Given the description of an element on the screen output the (x, y) to click on. 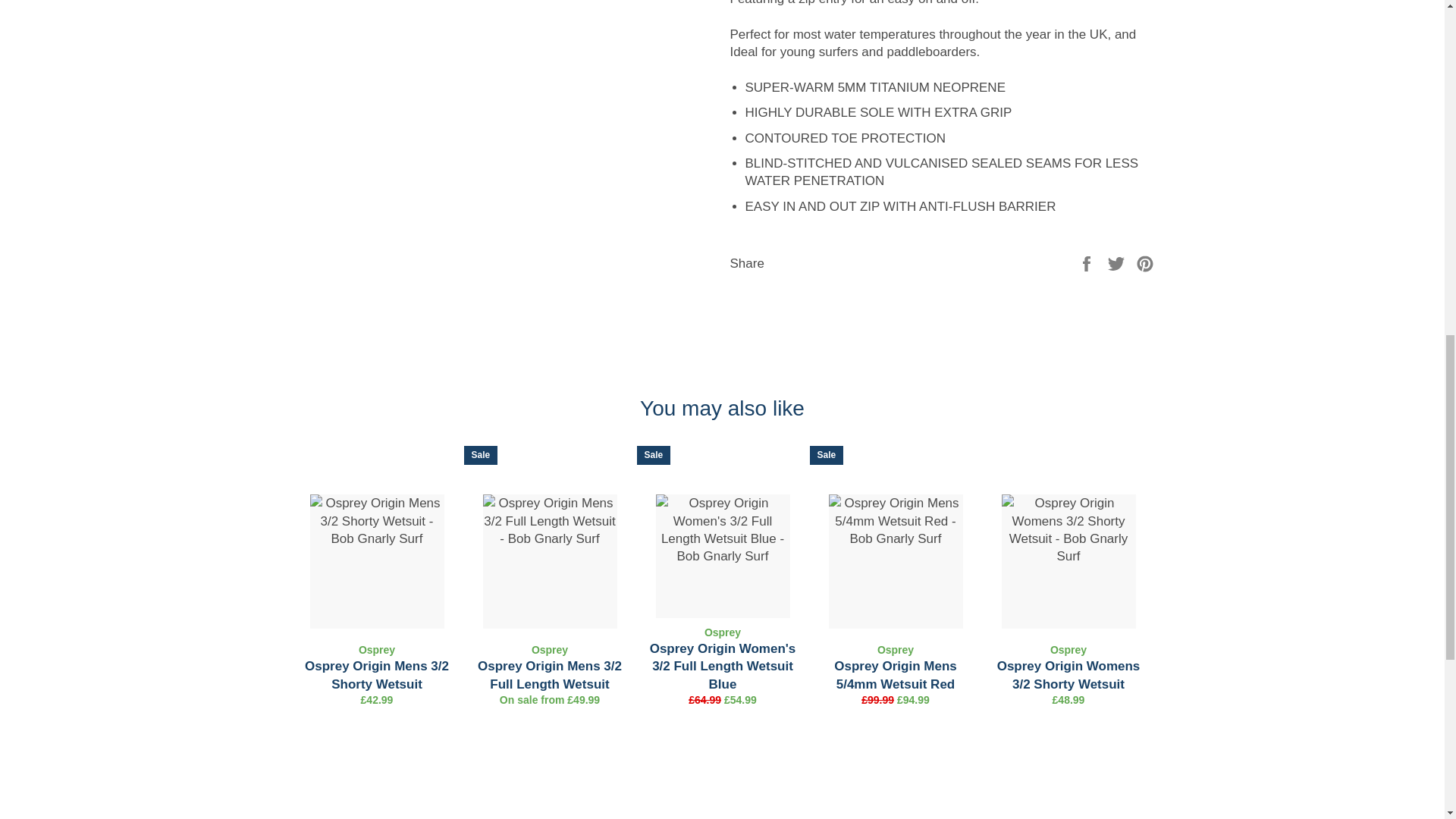
Pin on Pinterest (1144, 262)
Share on Facebook (1088, 262)
Tweet on Twitter (1117, 262)
